Given the description of an element on the screen output the (x, y) to click on. 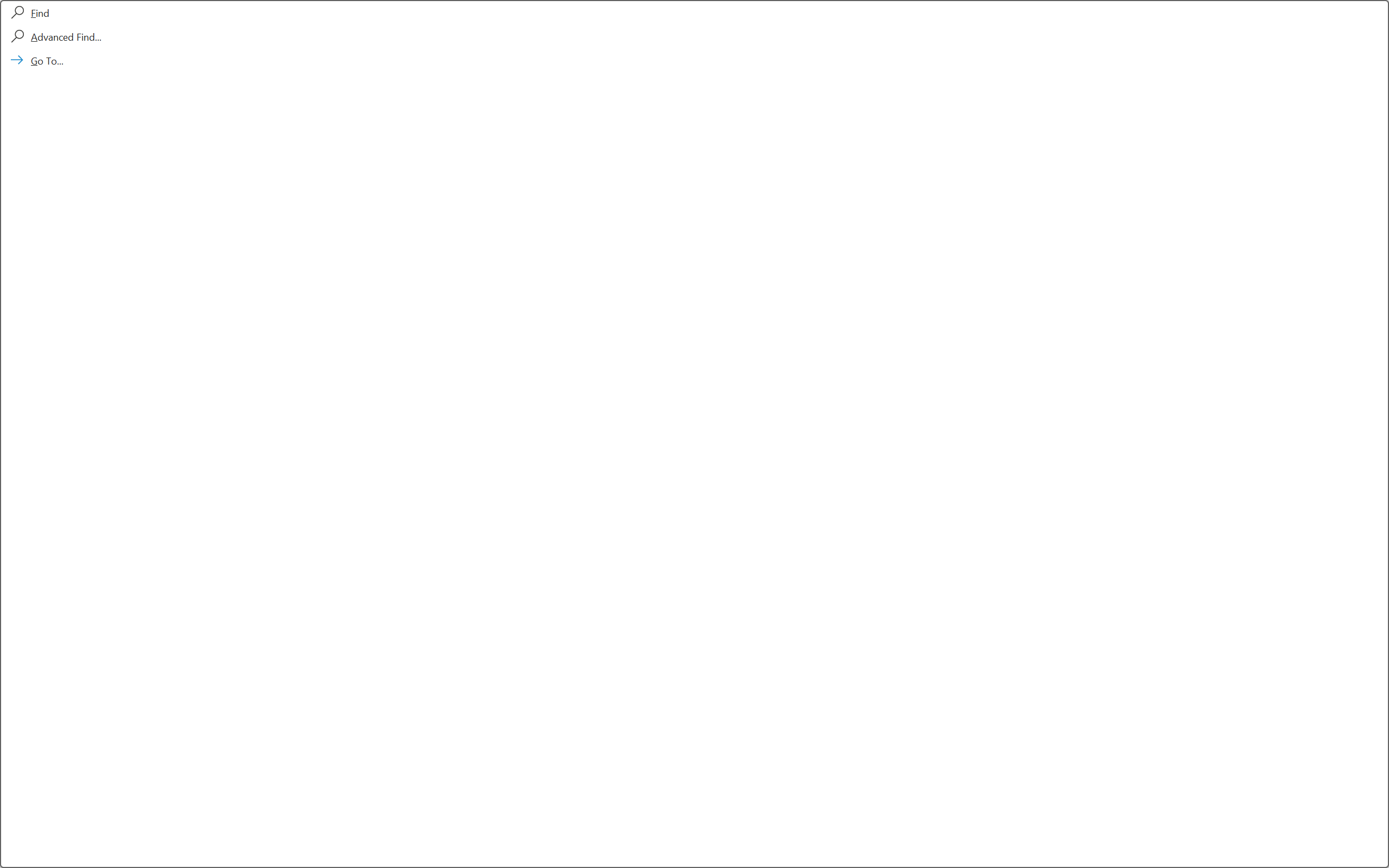
&Find (694, 434)
